Given the description of an element on the screen output the (x, y) to click on. 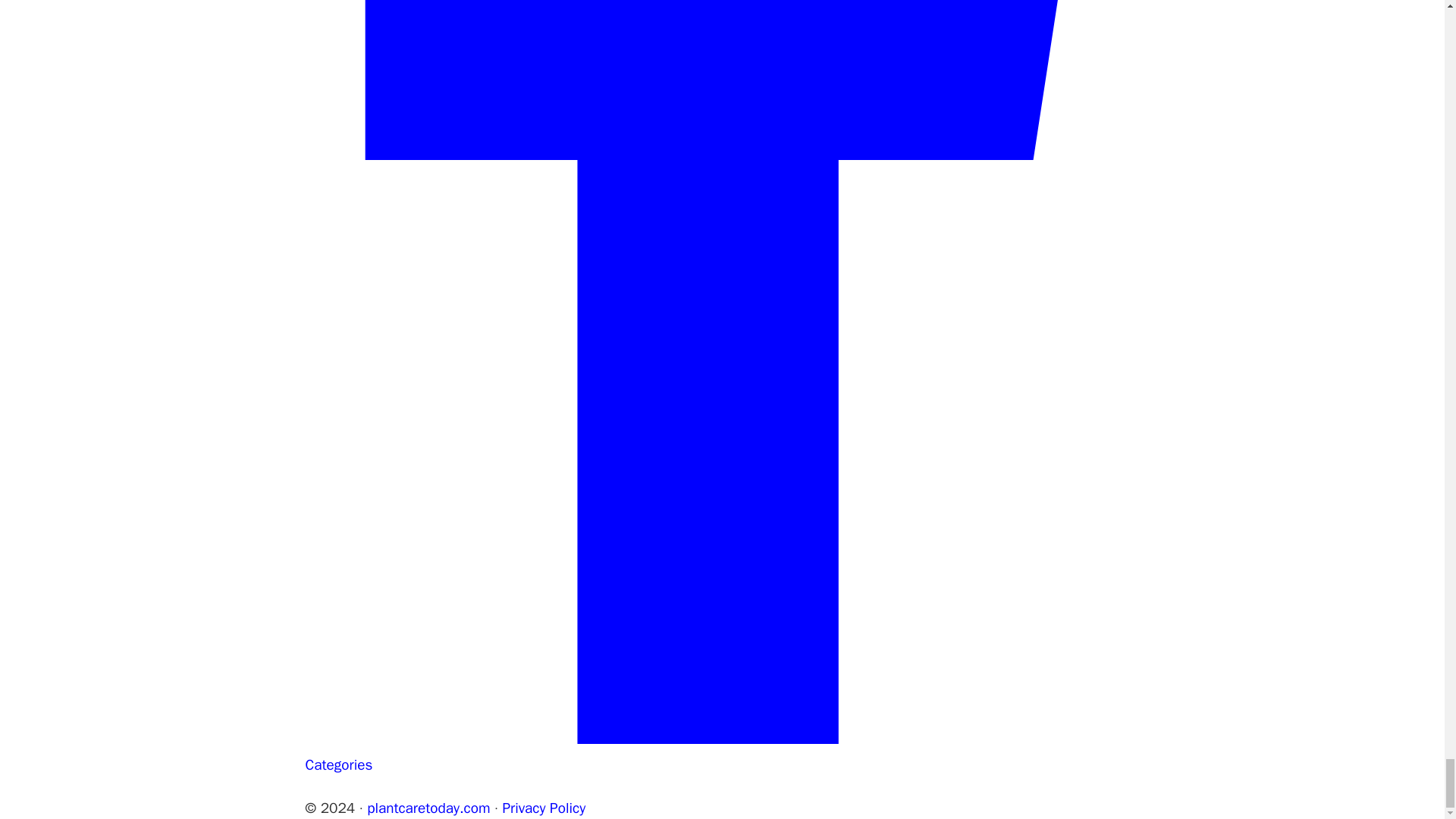
plantcaretoday.com (427, 808)
Categories (338, 764)
Privacy Policy (543, 808)
